Given the description of an element on the screen output the (x, y) to click on. 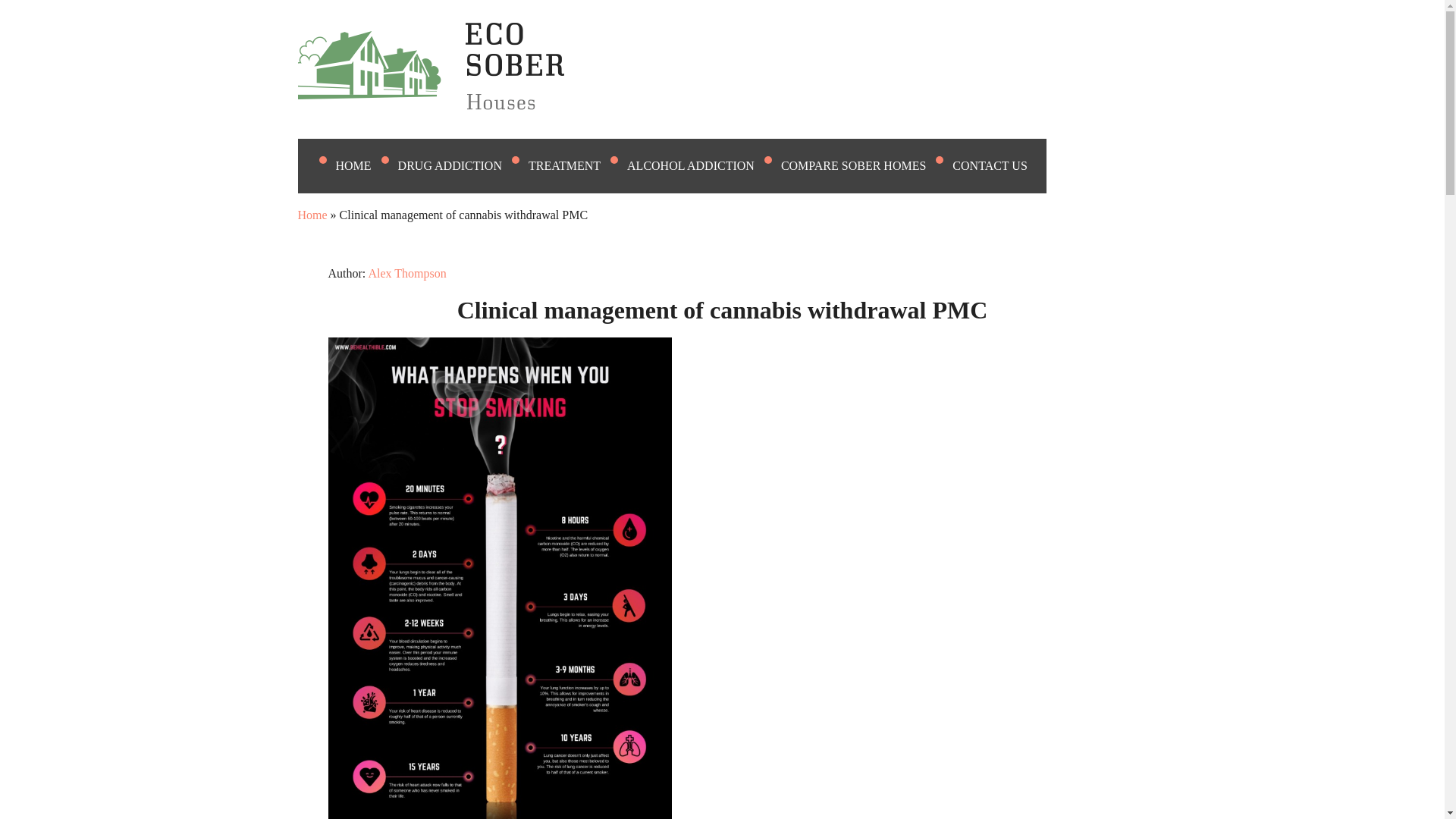
COMPARE SOBER HOMES (862, 164)
Home (311, 214)
HOME (362, 164)
ALCOHOL ADDICTION (700, 164)
TREATMENT (574, 164)
DRUG ADDICTION (459, 164)
CONTACT US (998, 164)
Alex Thompson (406, 273)
